Given the description of an element on the screen output the (x, y) to click on. 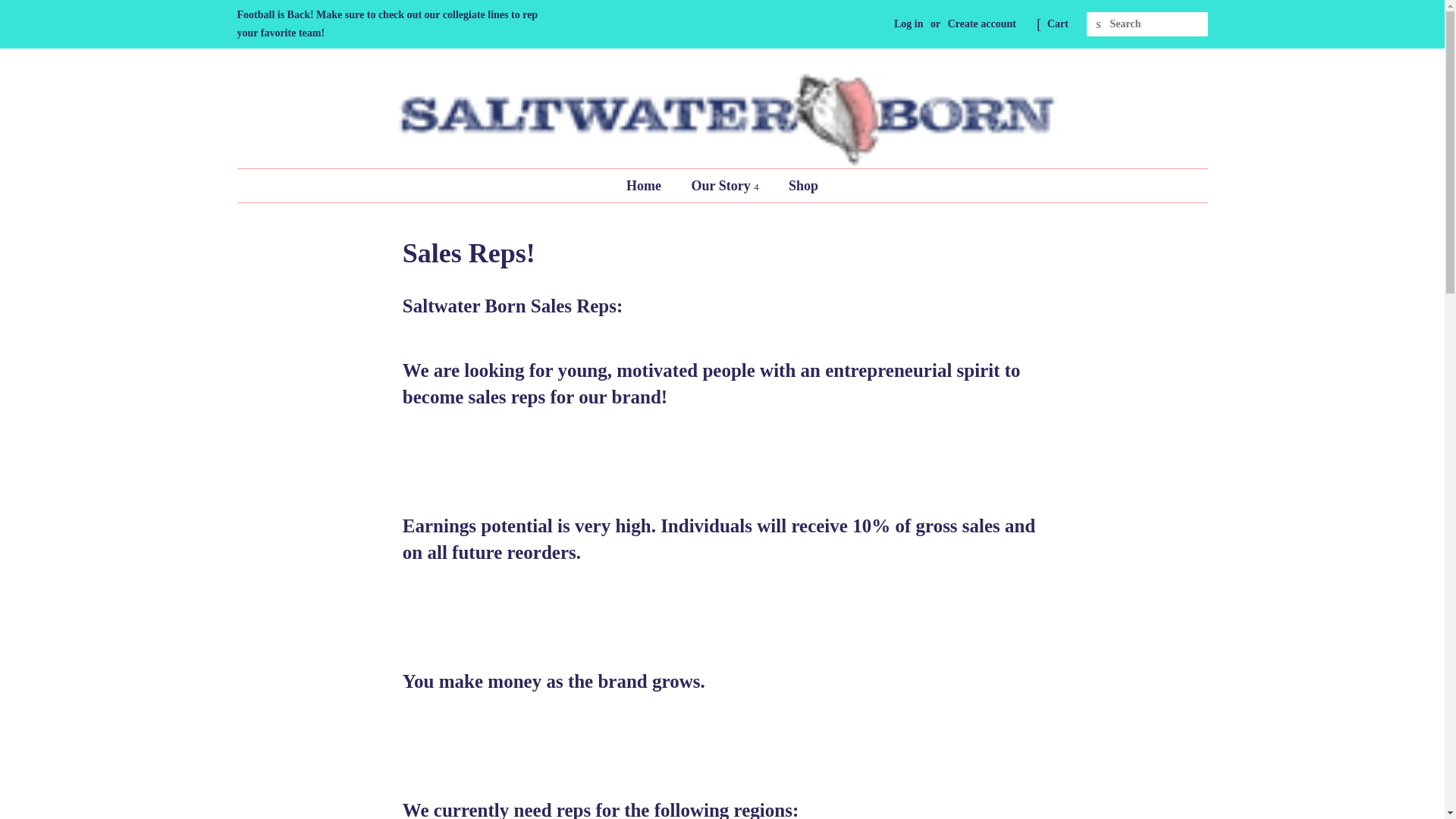
Cart (1057, 24)
Home (651, 185)
Log in (908, 23)
Search (1097, 24)
Create account (981, 23)
Shop (797, 185)
Our Story (726, 185)
